Given the description of an element on the screen output the (x, y) to click on. 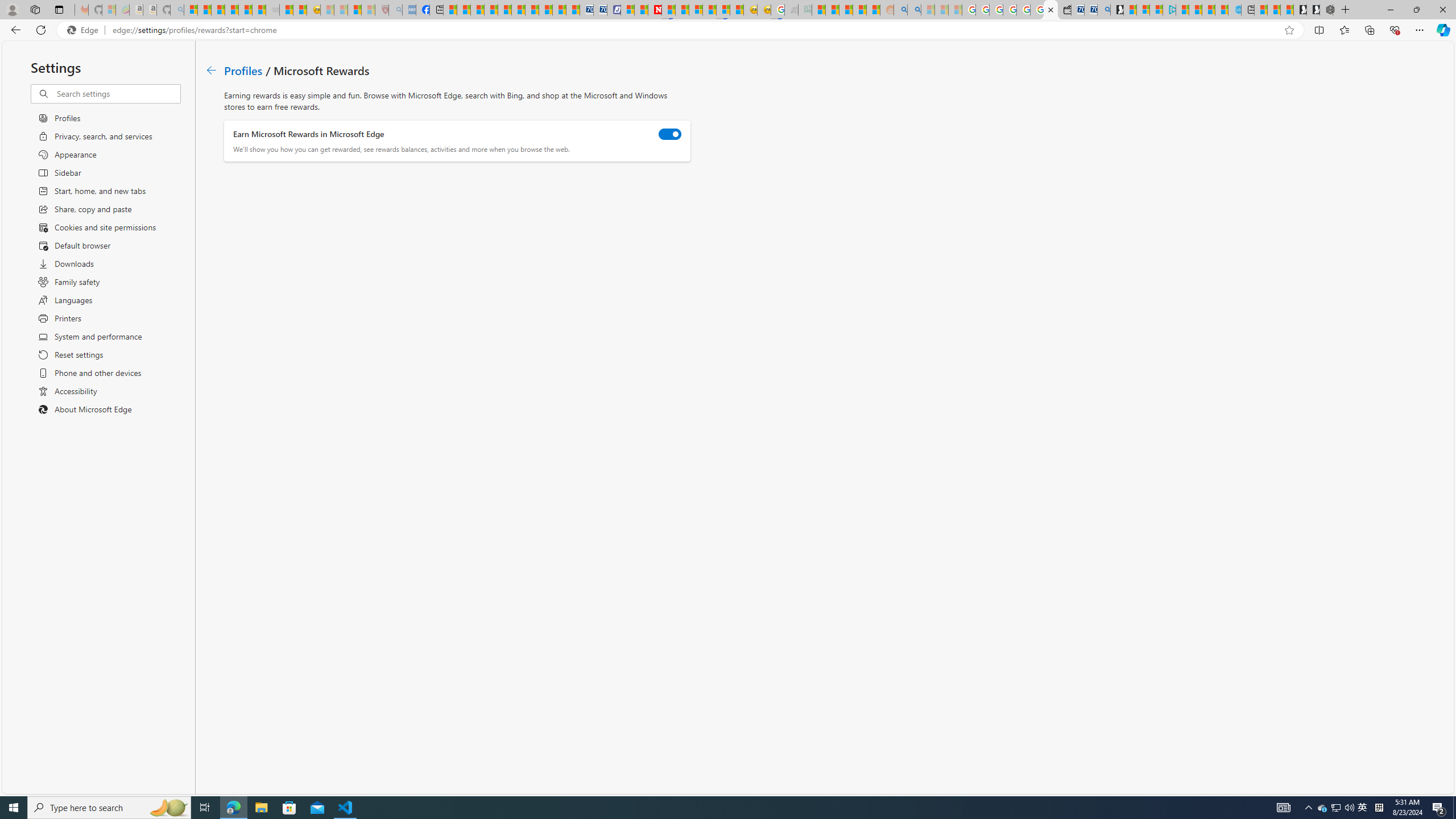
Bing Real Estate - Home sales and rental listings (1103, 9)
